Given the description of an element on the screen output the (x, y) to click on. 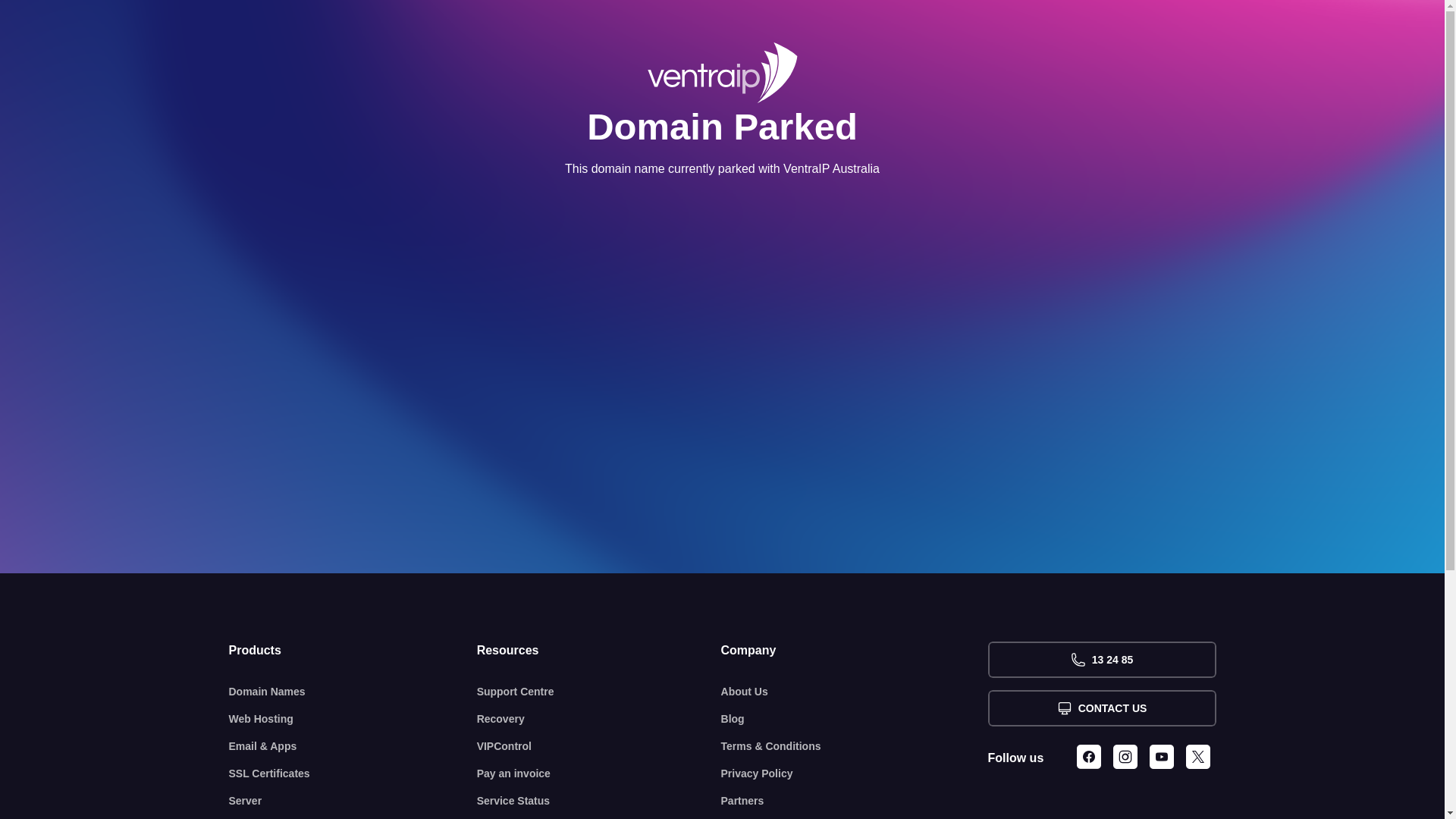
About Us Element type: text (854, 691)
SSL Certificates Element type: text (352, 773)
Recovery Element type: text (598, 718)
Terms & Conditions Element type: text (854, 745)
13 24 85 Element type: text (1101, 659)
Email & Apps Element type: text (352, 745)
Partners Element type: text (854, 800)
Domain Names Element type: text (352, 691)
Server Element type: text (352, 800)
Support Centre Element type: text (598, 691)
CONTACT US Element type: text (1101, 708)
Service Status Element type: text (598, 800)
Pay an invoice Element type: text (598, 773)
Blog Element type: text (854, 718)
VIPControl Element type: text (598, 745)
Web Hosting Element type: text (352, 718)
Privacy Policy Element type: text (854, 773)
